Given the description of an element on the screen output the (x, y) to click on. 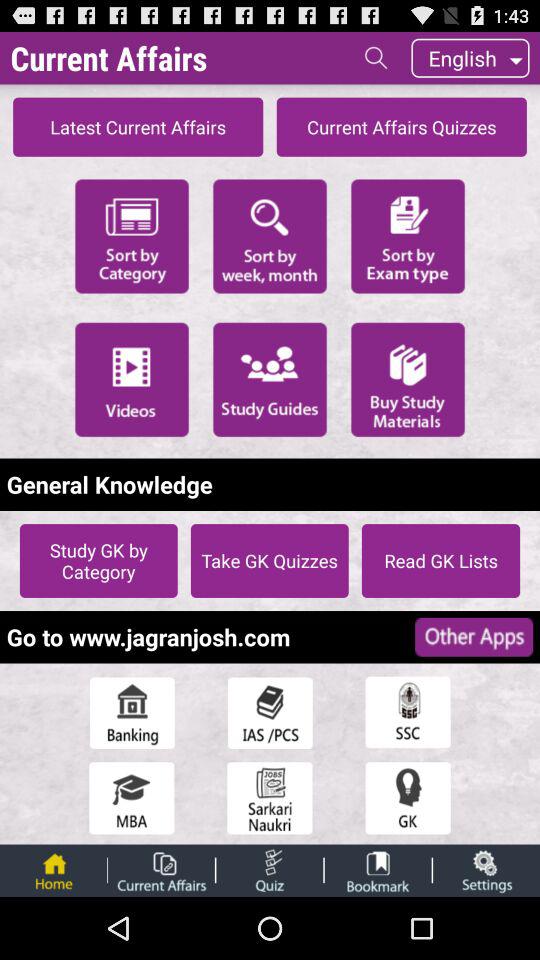
go to current affairs (161, 870)
